Given the description of an element on the screen output the (x, y) to click on. 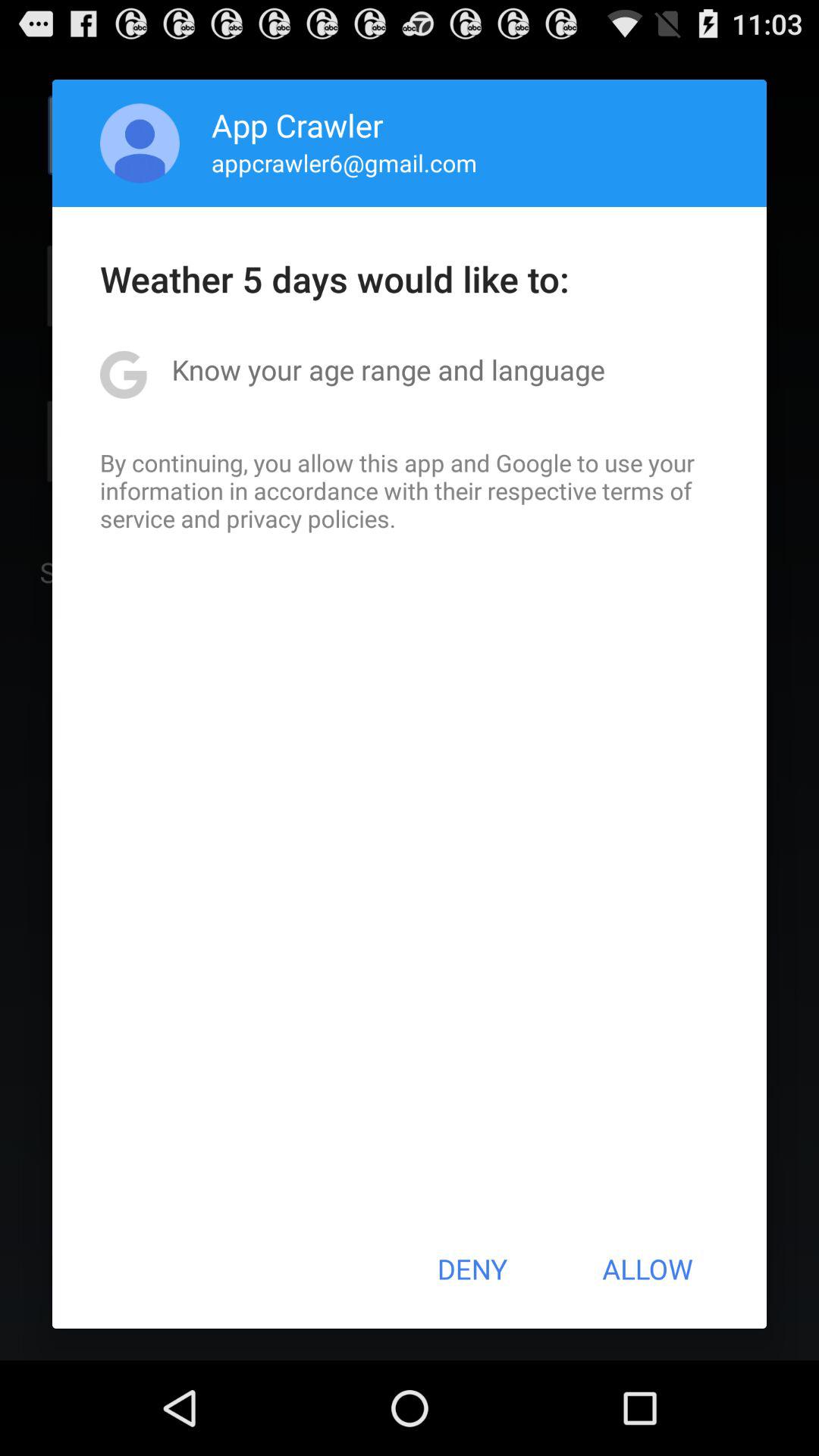
open the button at the bottom (471, 1268)
